Given the description of an element on the screen output the (x, y) to click on. 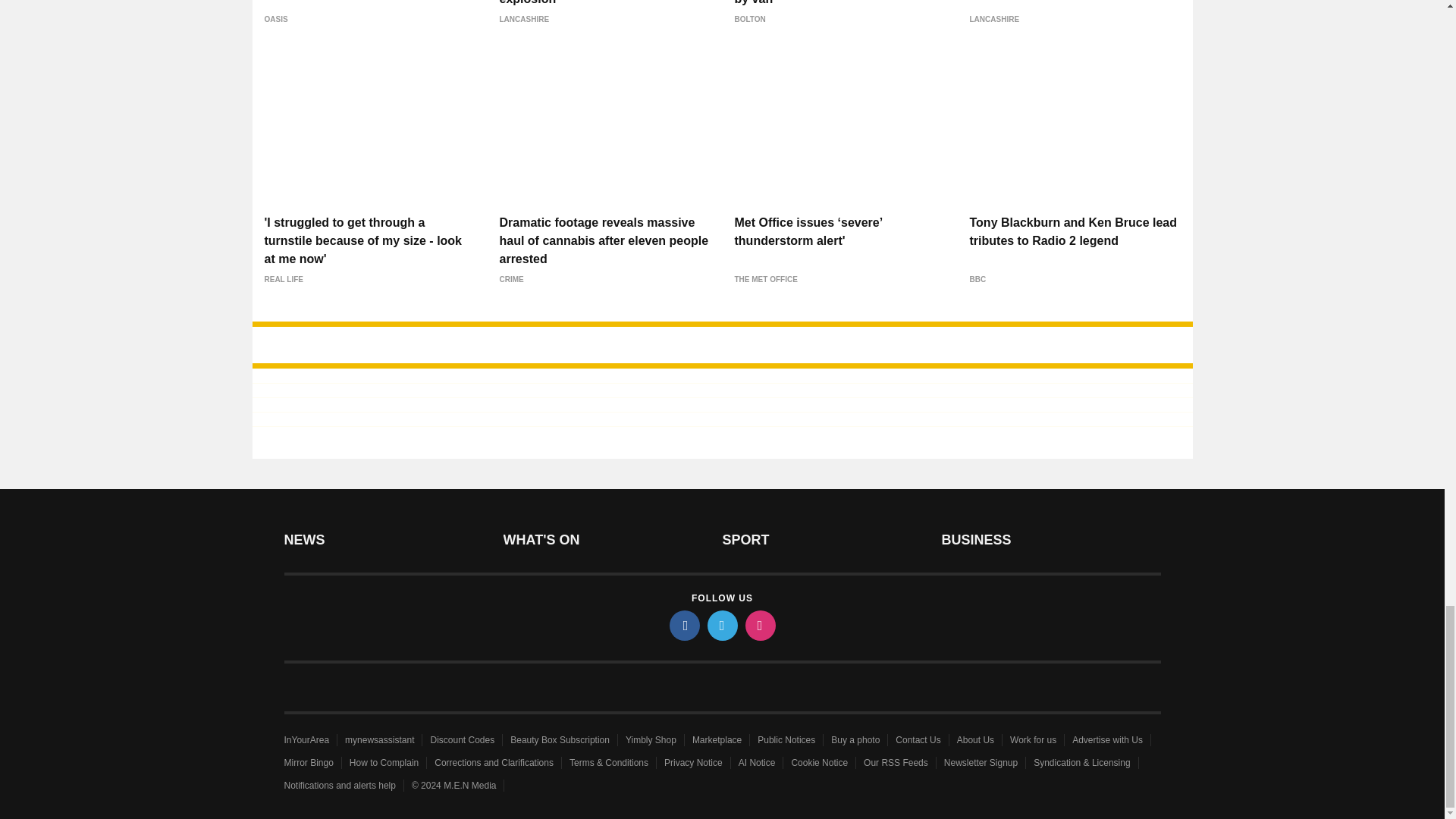
facebook (683, 625)
instagram (759, 625)
twitter (721, 625)
